Given the description of an element on the screen output the (x, y) to click on. 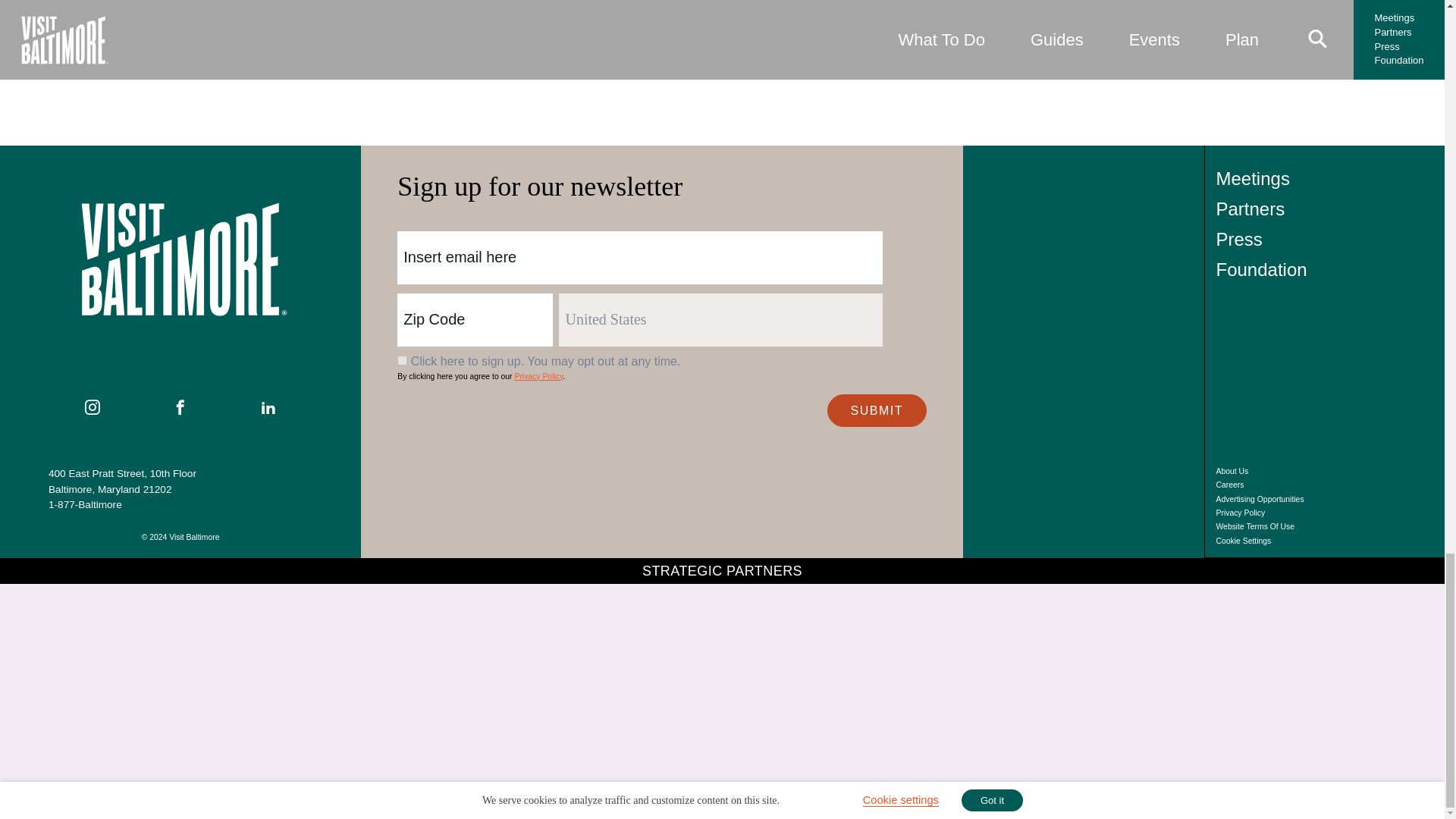
1 (402, 359)
